Given the description of an element on the screen output the (x, y) to click on. 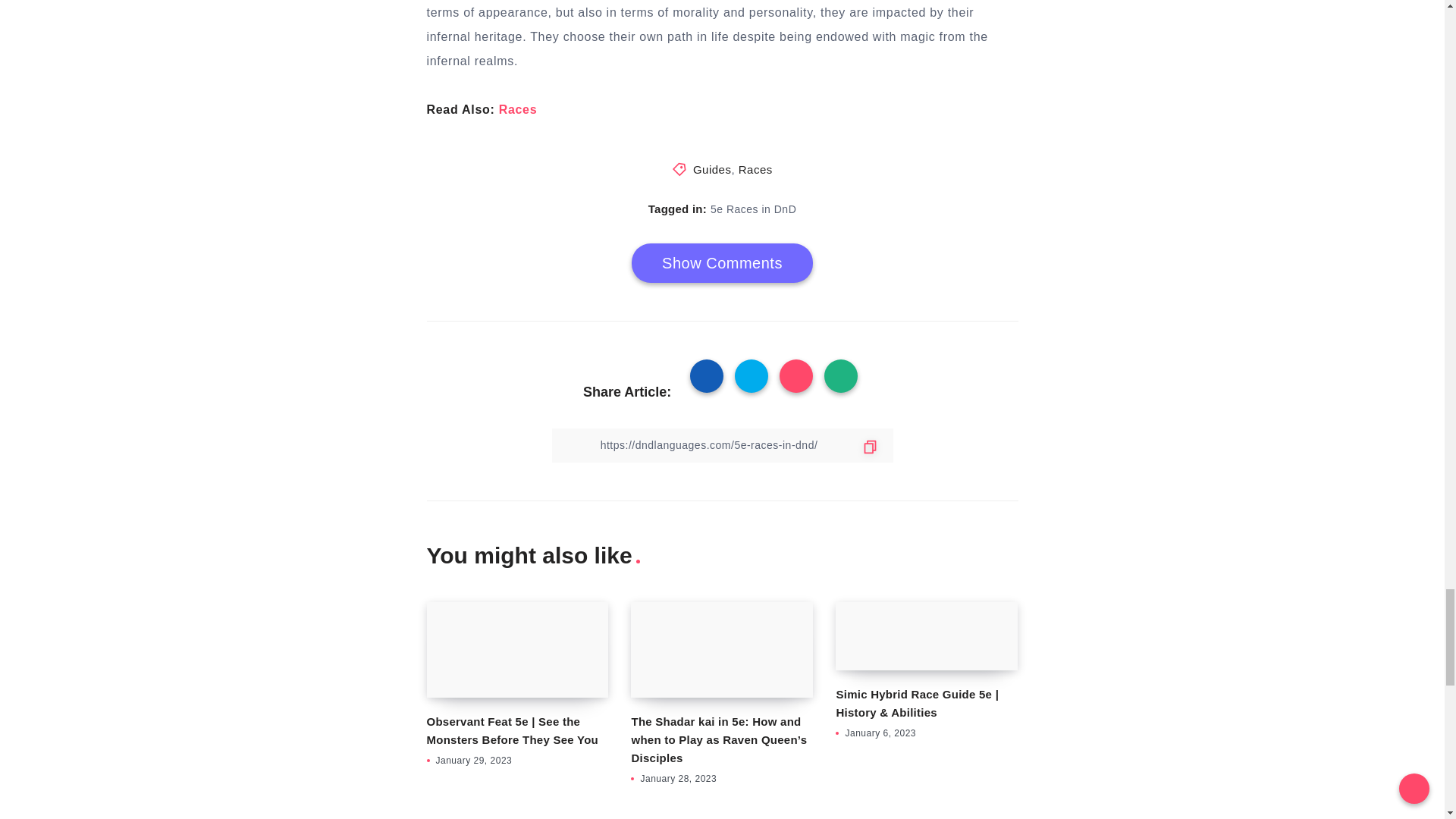
Guides (712, 169)
Show Comments (721, 262)
Races (518, 109)
Races (755, 169)
5e Races in DnD (753, 209)
